Given the description of an element on the screen output the (x, y) to click on. 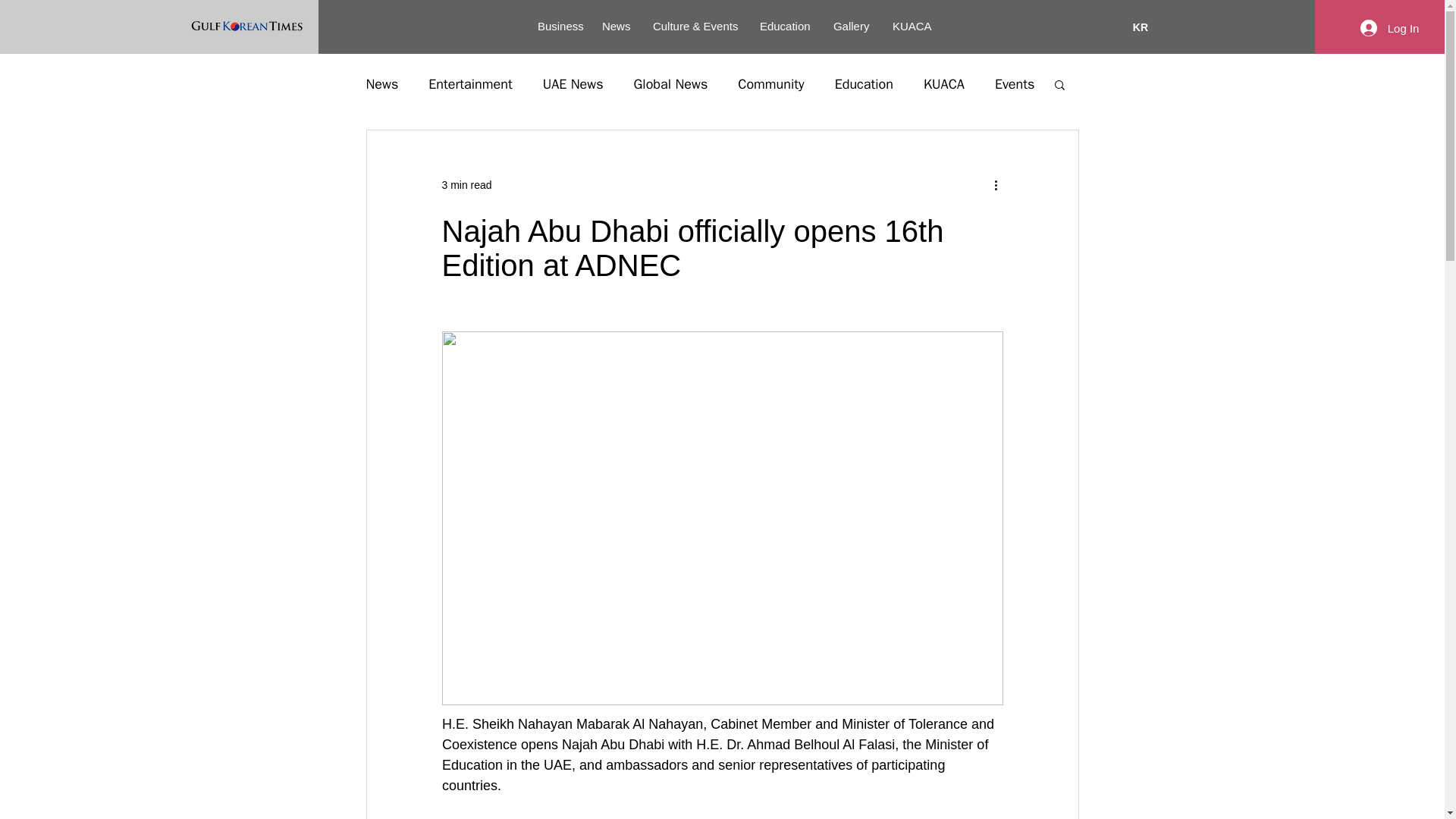
Entertainment (470, 84)
Education (785, 26)
Business (558, 26)
UAE News (573, 84)
Gallery (851, 26)
3 min read (466, 184)
Global News (670, 84)
KUACA (911, 26)
Events (1014, 84)
Log In (1389, 27)
News (616, 26)
KUACA (943, 84)
Education (863, 84)
Community (770, 84)
KR (1140, 27)
